Given the description of an element on the screen output the (x, y) to click on. 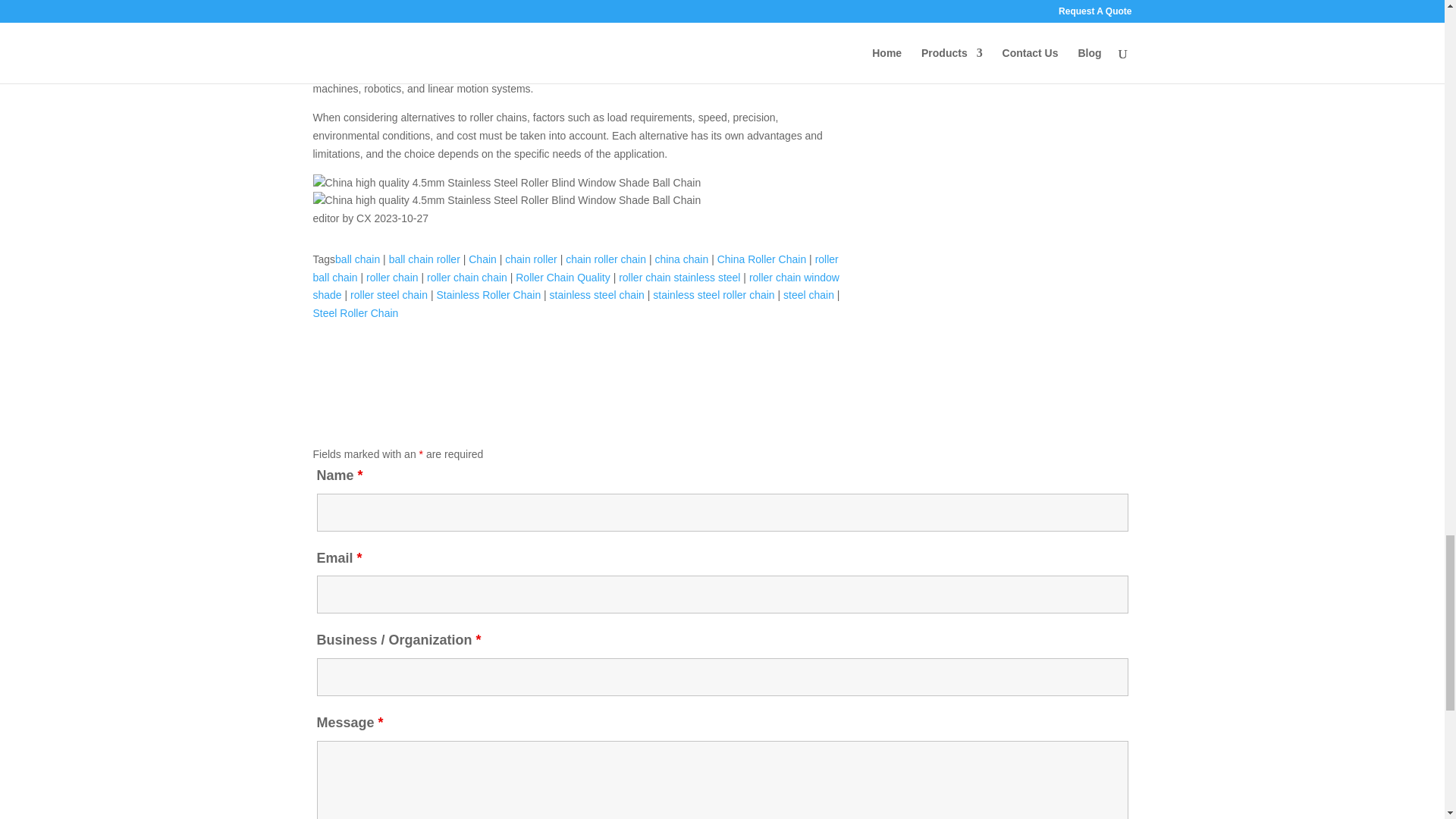
Chain (482, 259)
china chain (680, 259)
roller steel chain (389, 295)
ball chain roller (424, 259)
roller chain (391, 277)
stainless steel chain (597, 295)
roller chain window shade (575, 286)
Stainless Roller Chain (487, 295)
roller ball chain (575, 268)
chain roller chain (606, 259)
chain roller (530, 259)
roller chain chain (466, 277)
ball chain (357, 259)
roller chain stainless steel (678, 277)
China Roller Chain (761, 259)
